Given the description of an element on the screen output the (x, y) to click on. 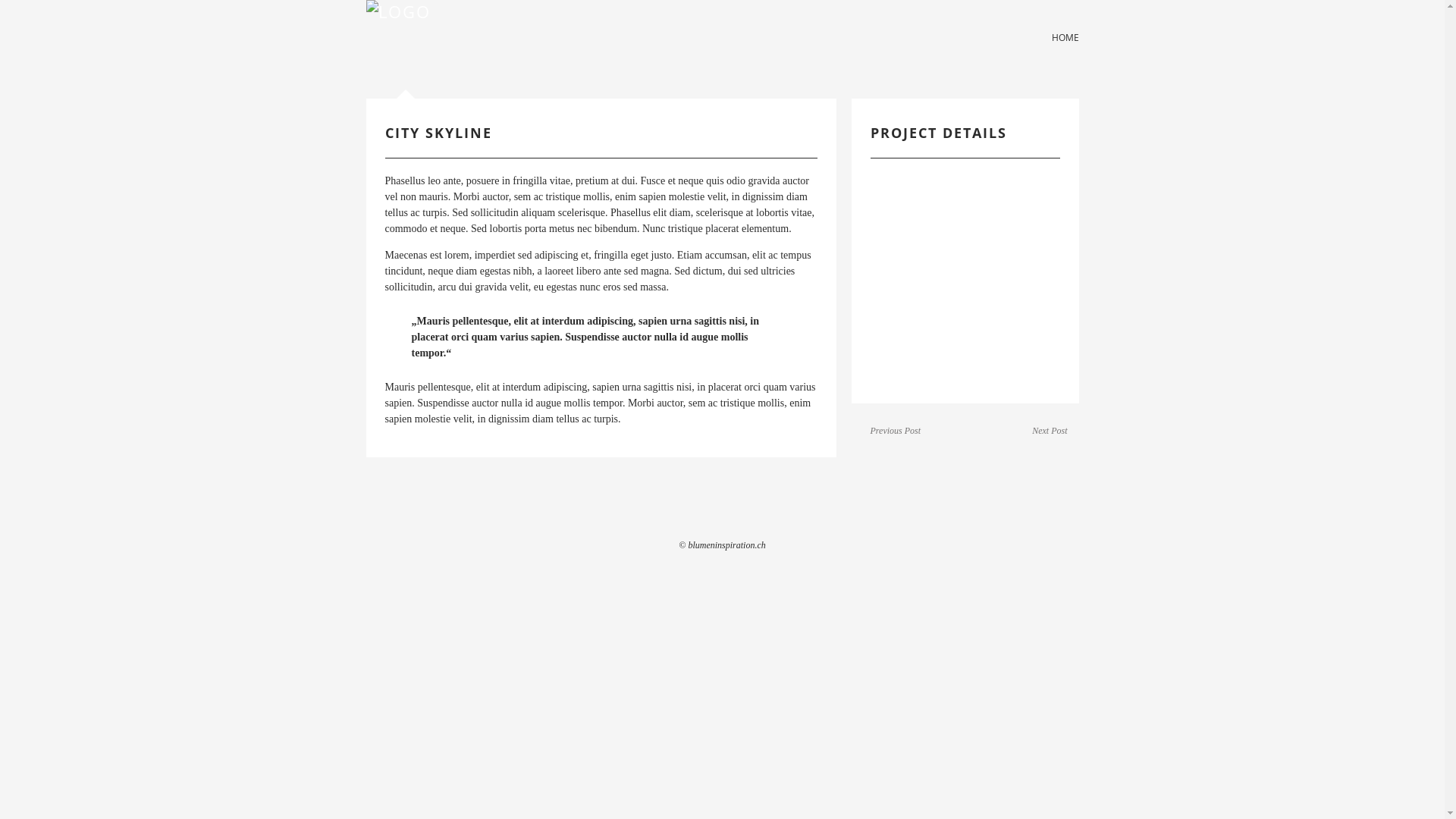
Next Post Element type: text (1049, 430)
Previous Post Element type: text (895, 430)
HOME Element type: text (1065, 37)
